Given the description of an element on the screen output the (x, y) to click on. 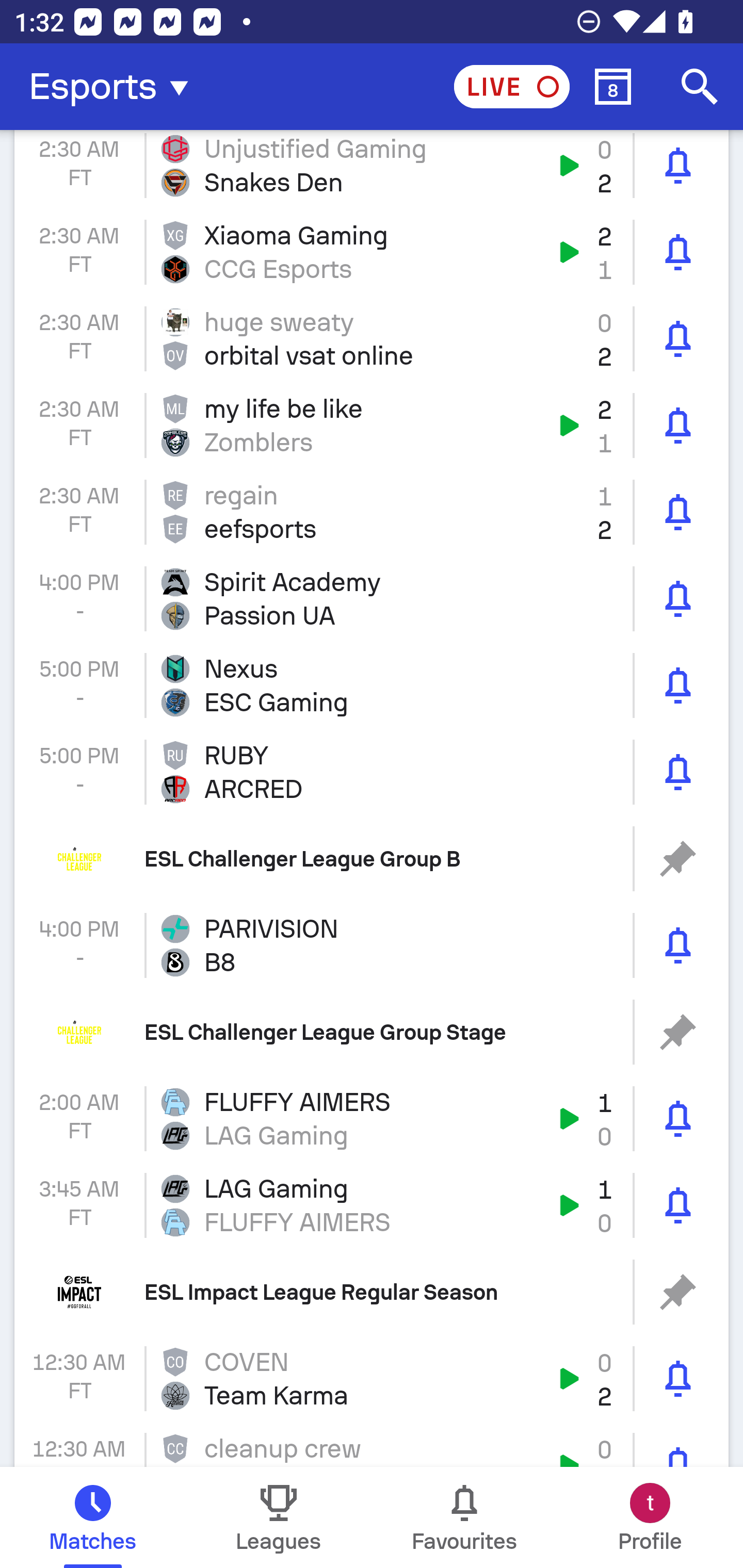
Esports (114, 86)
Calendar (612, 86)
Search (699, 86)
2:30 AM FT Unjustified Gaming Snakes Den 0 2 (371, 169)
2:30 AM FT Xiaoma Gaming CCG Esports 2 1 (371, 251)
2:30 AM FT huge sweaty orbital vsat online 0 2 (371, 338)
2:30 AM FT my life be like Zomblers 2 1 (371, 425)
2:30 AM FT regain eefsports 1 2 (371, 511)
4:00 PM - Spirit Academy Passion UA (371, 598)
5:00 PM - Nexus ESC Gaming (371, 685)
5:00 PM - RUBY ARCRED (371, 772)
ESL Challenger League Group B (371, 858)
4:00 PM - PARIVISION B8 (371, 945)
ESL Challenger League Group Stage (371, 1032)
2:00 AM FT FLUFFY AIMERS LAG Gaming 1 0 (371, 1118)
3:45 AM FT LAG Gaming FLUFFY AIMERS 1 0 (371, 1204)
ESL Impact League Regular Season (371, 1291)
12:30 AM FT COVEN Team Karma 0 2 (371, 1378)
Leagues (278, 1517)
Favourites (464, 1517)
Profile (650, 1517)
